Given the description of an element on the screen output the (x, y) to click on. 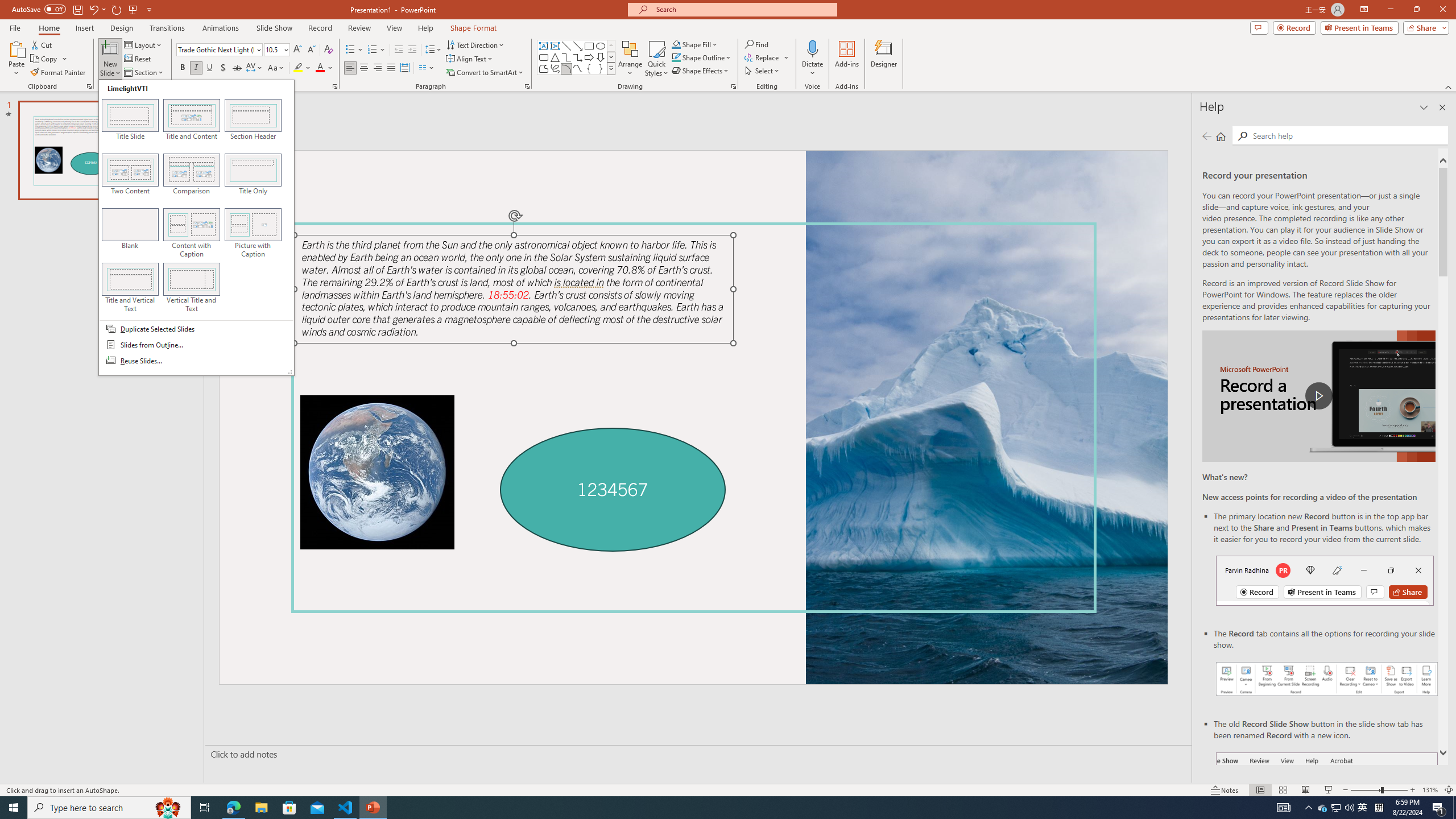
Record button in top bar (1324, 580)
